Given the description of an element on the screen output the (x, y) to click on. 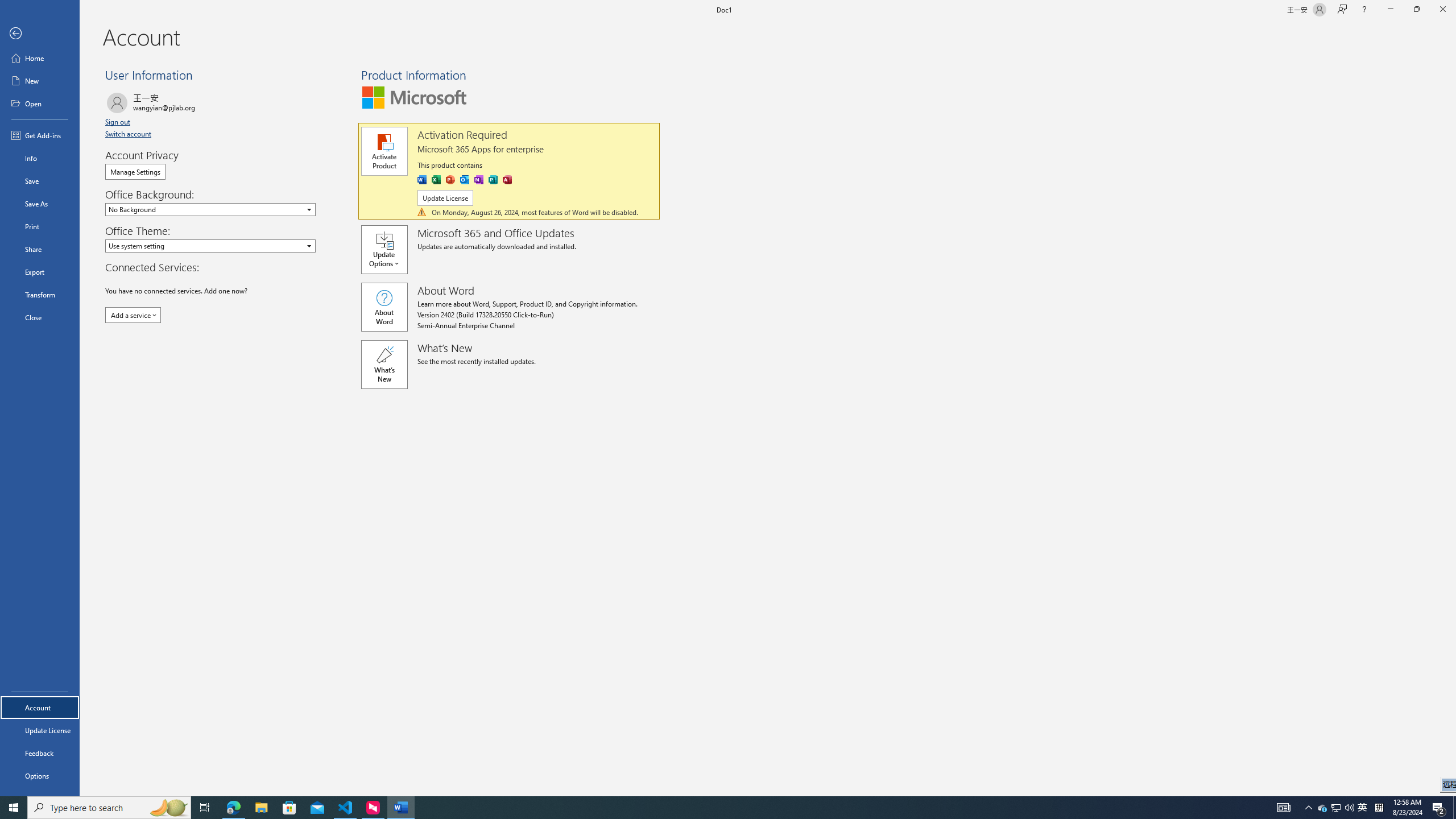
Account (40, 707)
